Given the description of an element on the screen output the (x, y) to click on. 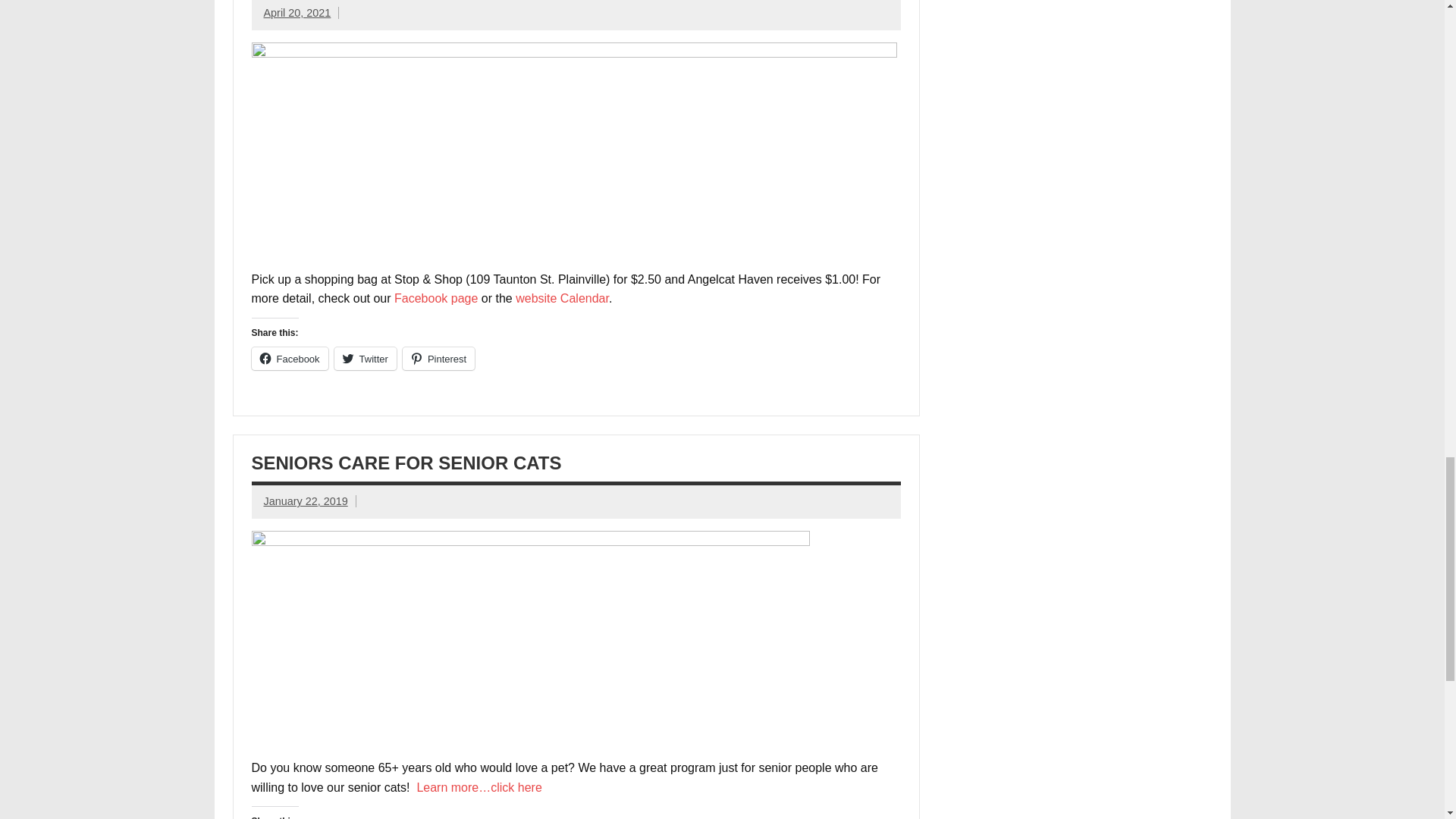
Click to share on Facebook (290, 358)
Click to share on Pinterest (438, 358)
6:16 pm (297, 12)
9:42 pm (305, 500)
Click to share on Twitter (365, 358)
